Given the description of an element on the screen output the (x, y) to click on. 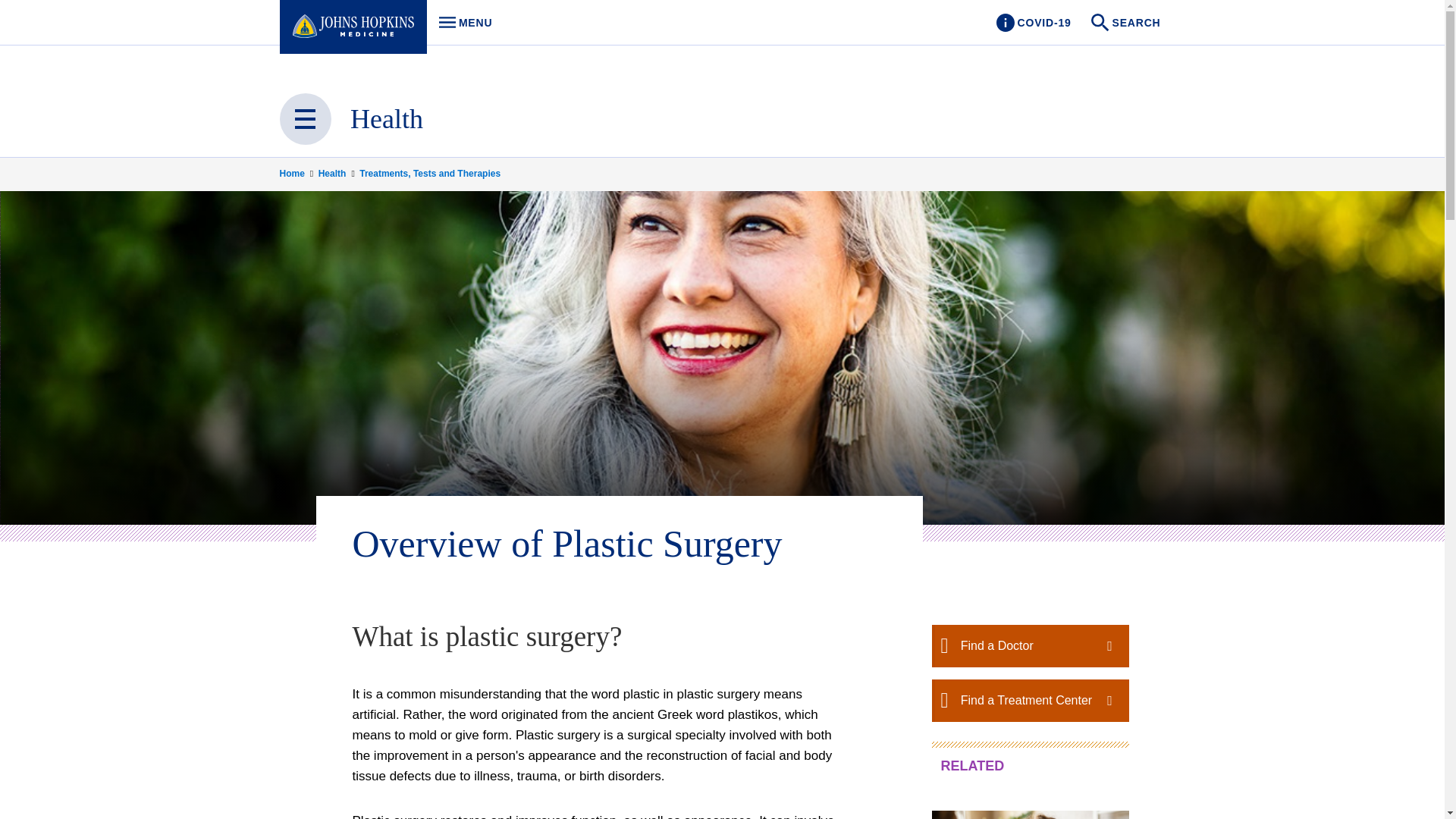
SEARCH (1126, 22)
Home (296, 173)
Treatments, Tests and Therapies (429, 173)
Find a Doctor (1029, 645)
Health (337, 173)
Health (461, 22)
COVID-19 (386, 119)
Close Main Menu (1033, 22)
